Given the description of an element on the screen output the (x, y) to click on. 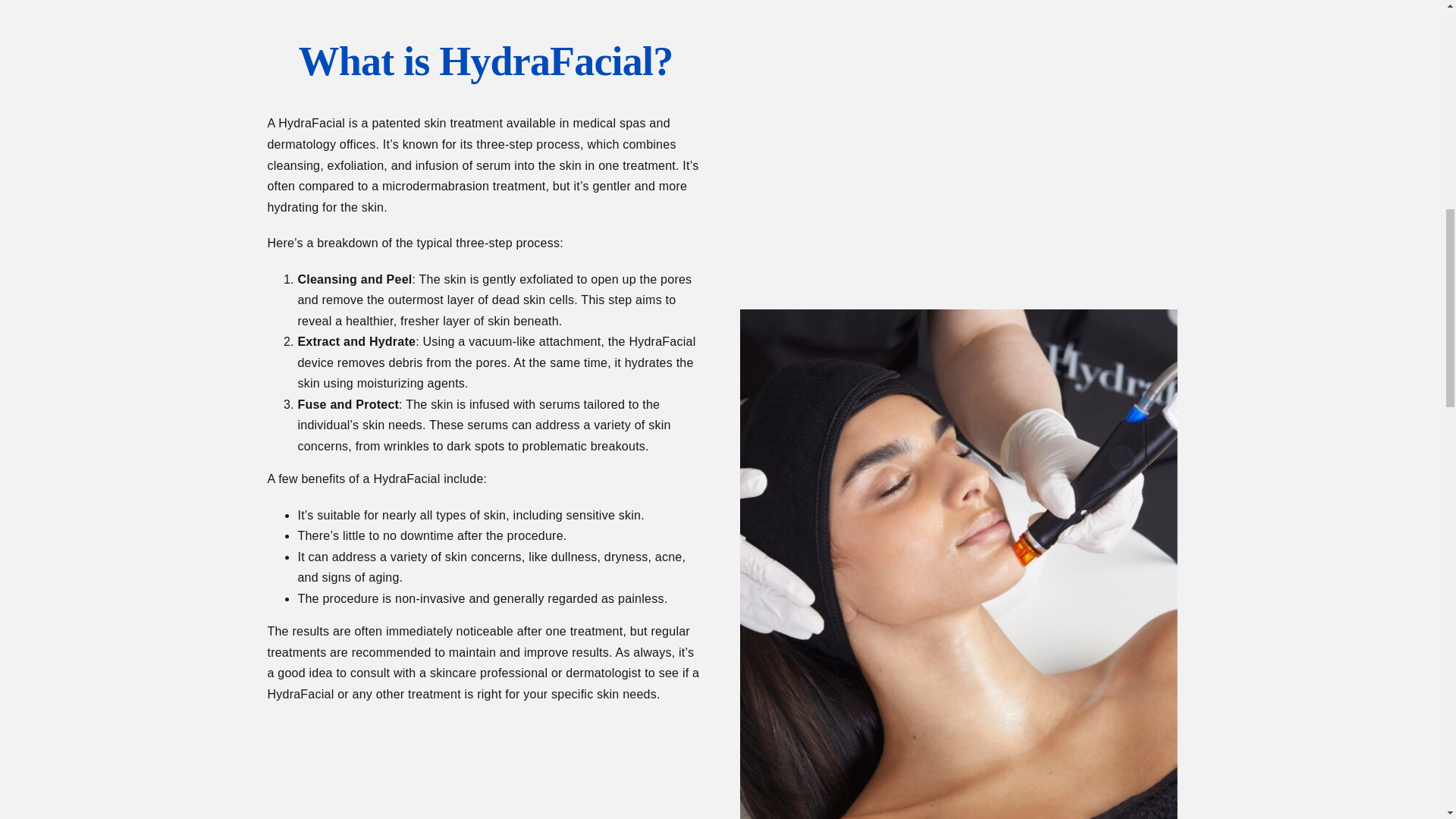
YouTube video player 1 (957, 140)
